Given the description of an element on the screen output the (x, y) to click on. 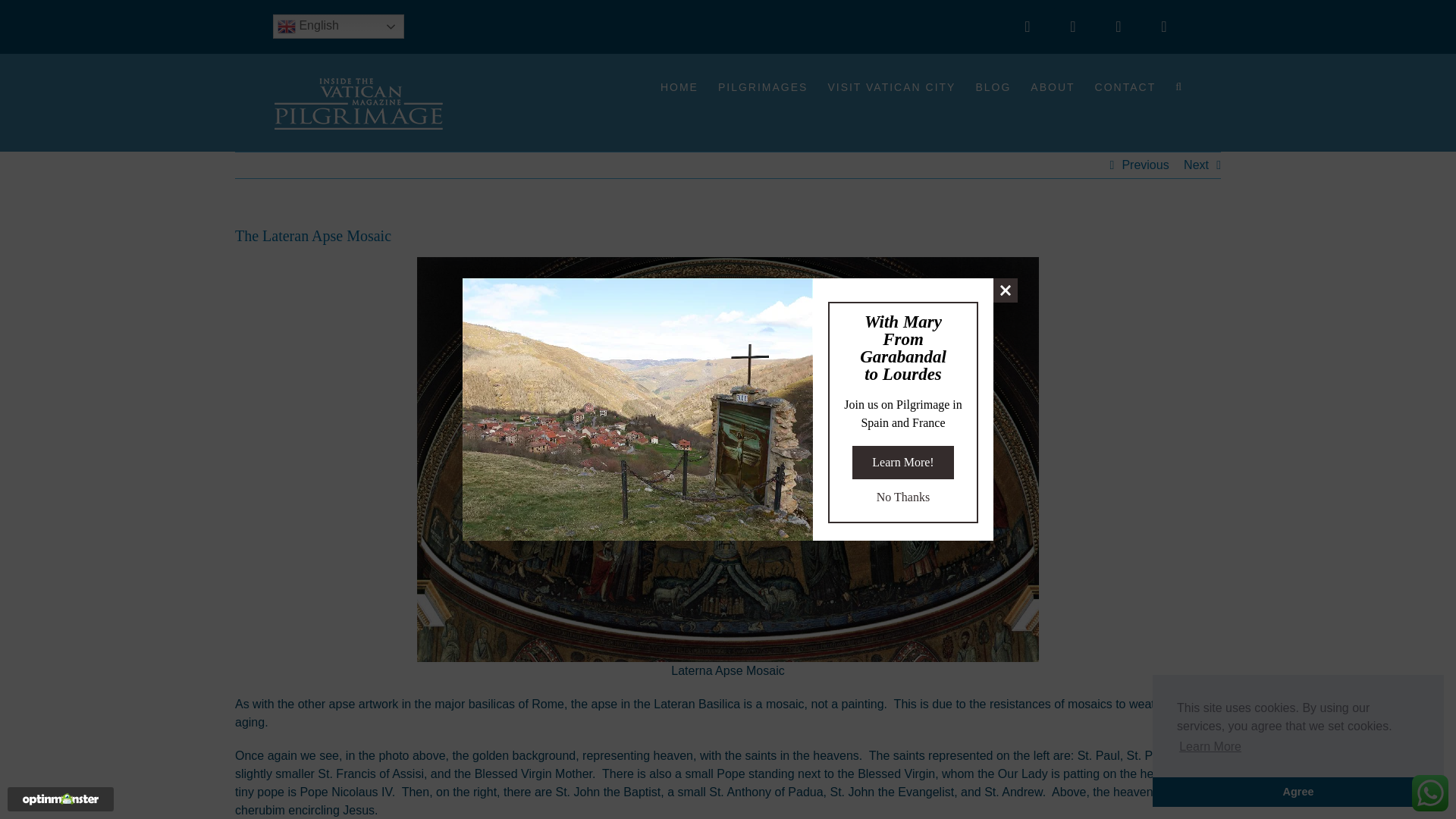
Instagram (1118, 26)
YouTube (1163, 26)
PILGRIMAGES (762, 85)
Learn More (1209, 746)
Agree (1298, 791)
Facebook (1027, 26)
English (338, 26)
X (1073, 26)
